Given the description of an element on the screen output the (x, y) to click on. 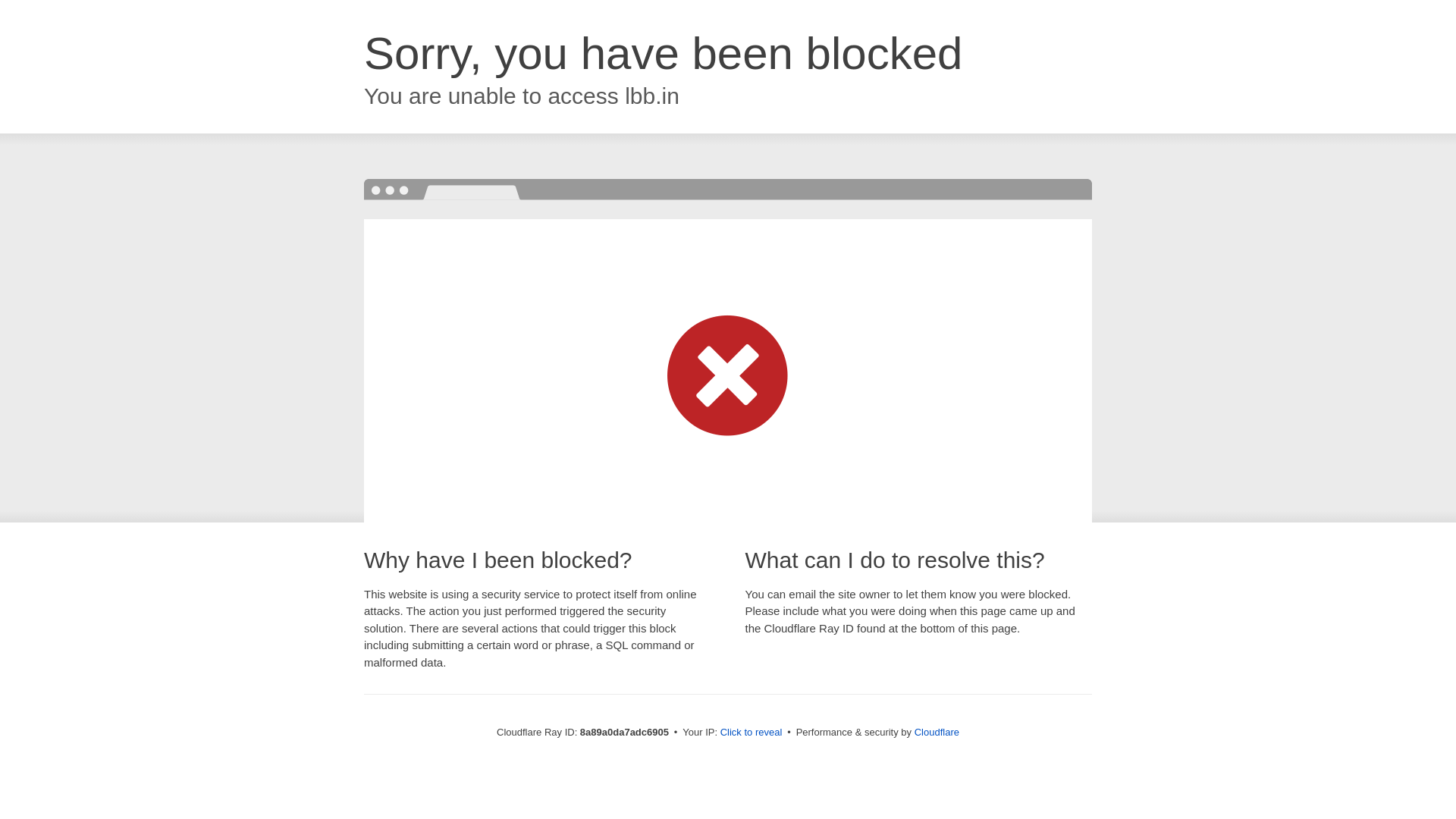
Cloudflare (936, 731)
Click to reveal (751, 732)
